Given the description of an element on the screen output the (x, y) to click on. 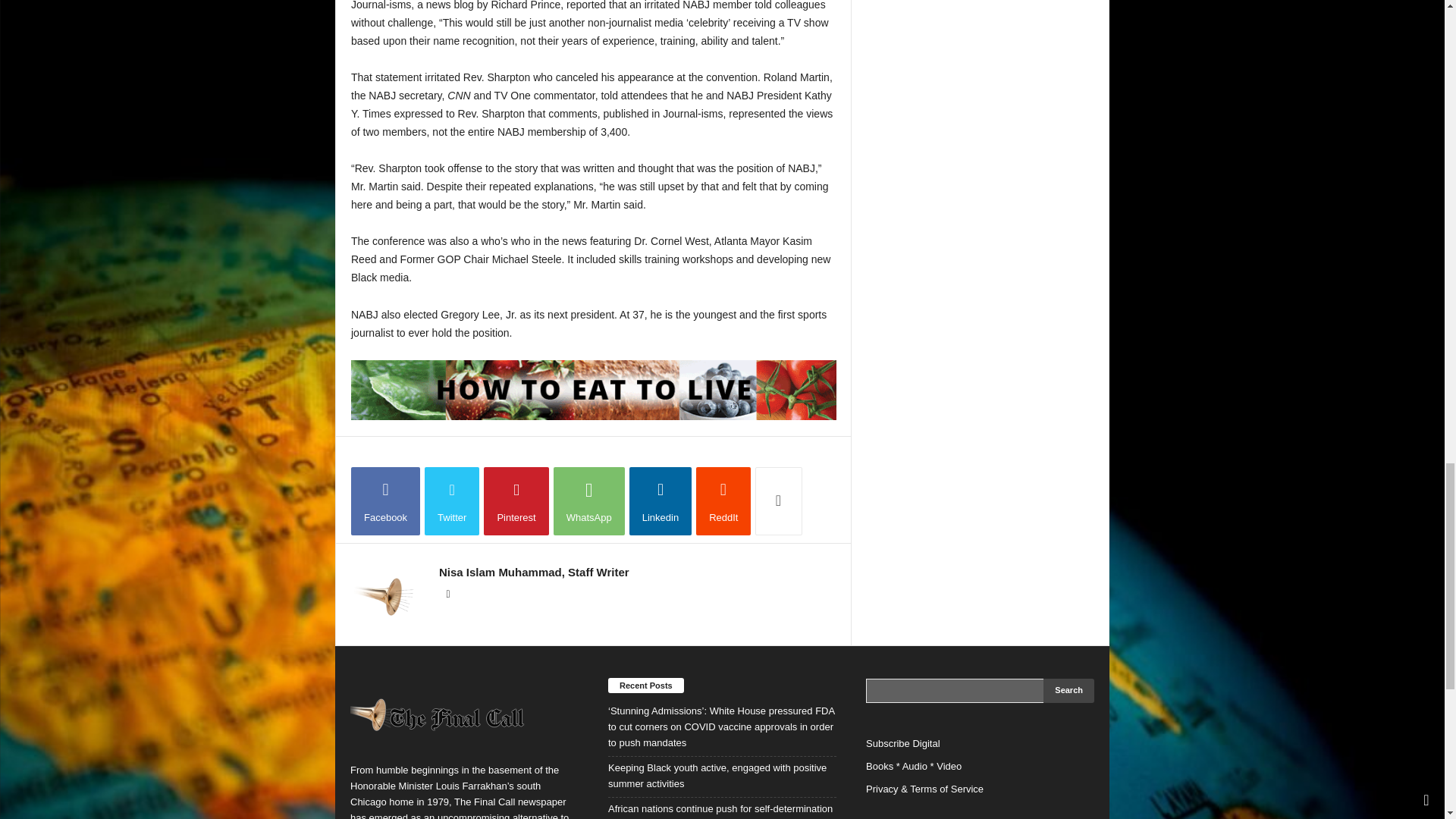
Search (1068, 690)
